Given the description of an element on the screen output the (x, y) to click on. 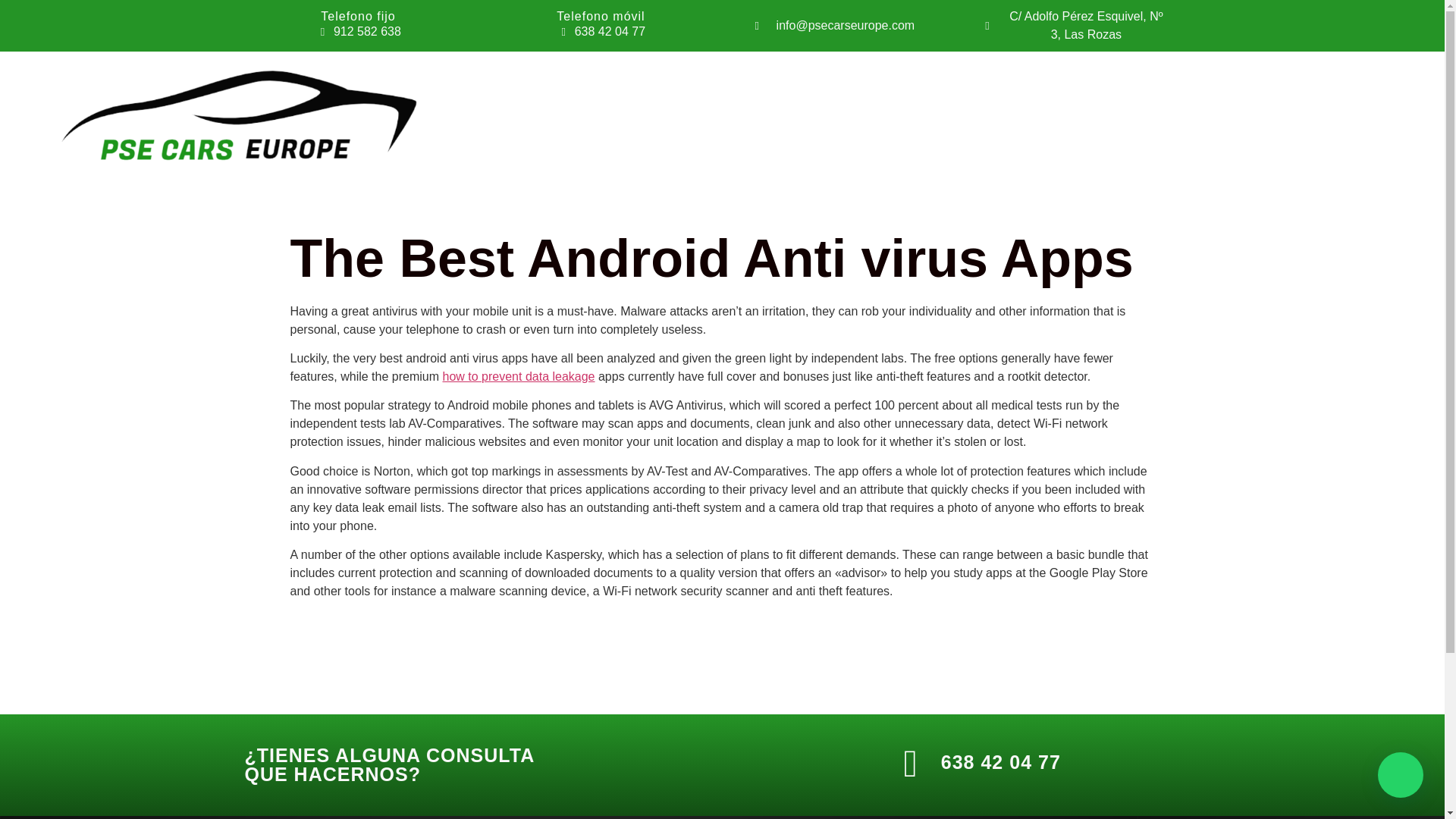
how to prevent data leakage (518, 376)
638 42 04 77 (600, 31)
638 42 04 77 (1000, 762)
912 582 638 (357, 31)
